Given the description of an element on the screen output the (x, y) to click on. 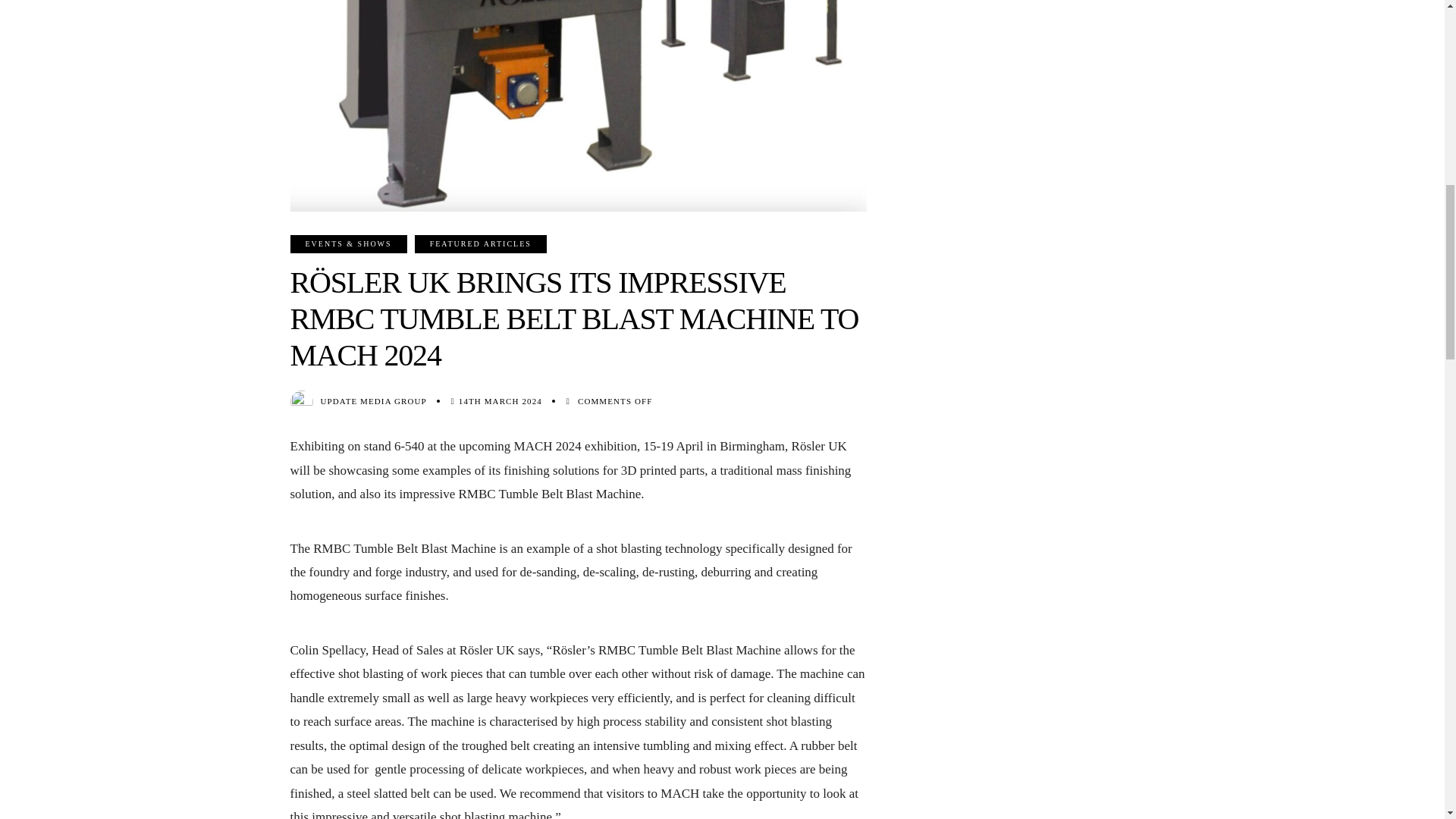
FEATURED ARTICLES (480, 244)
Posts by Update Media Group (373, 400)
UPDATE MEDIA GROUP (373, 400)
